Given the description of an element on the screen output the (x, y) to click on. 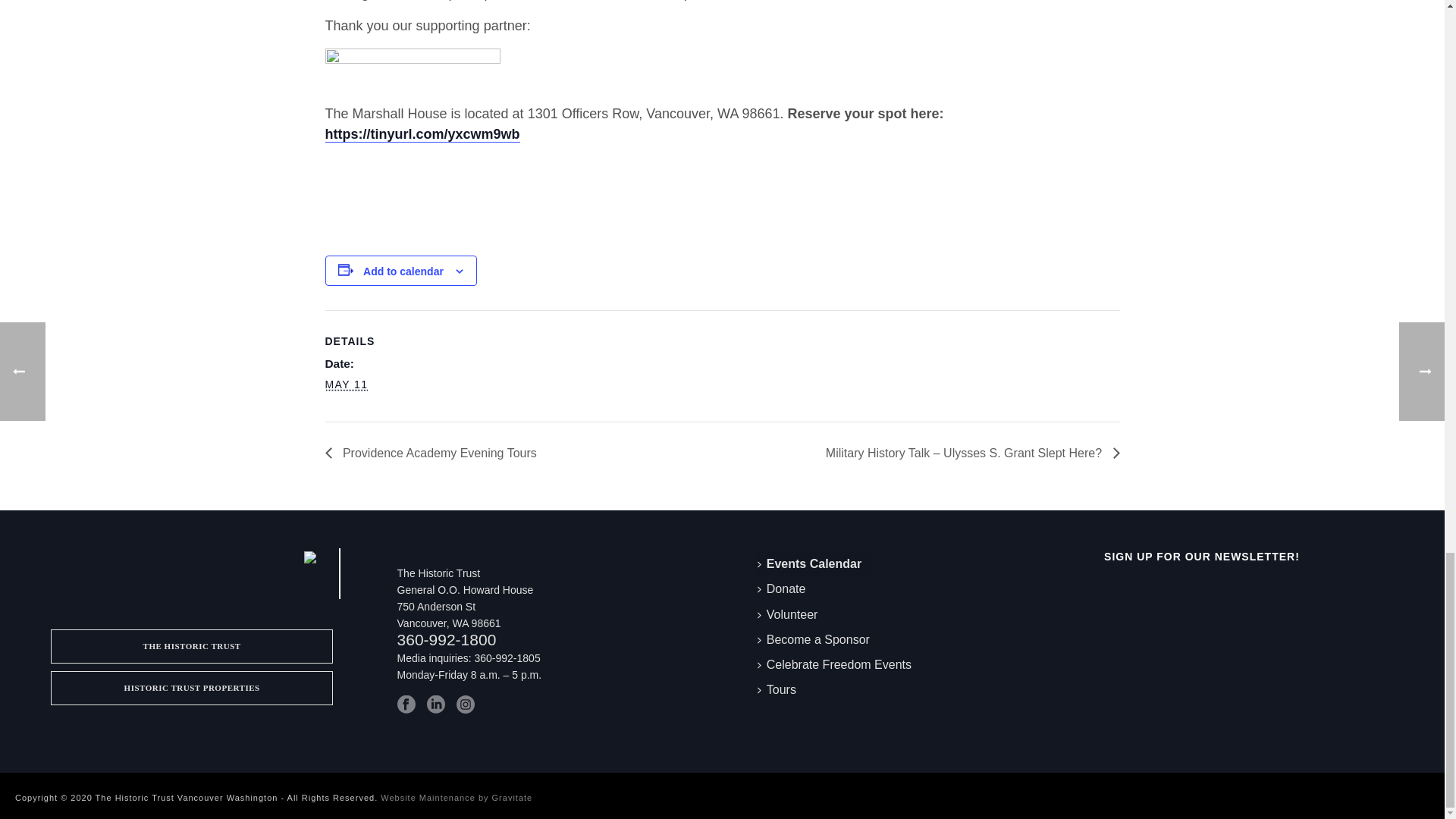
Follow Us on facebook (405, 704)
Follow Us on instagram (465, 704)
Follow Us on linkedin (435, 704)
2024-05-11 (346, 384)
